Given the description of an element on the screen output the (x, y) to click on. 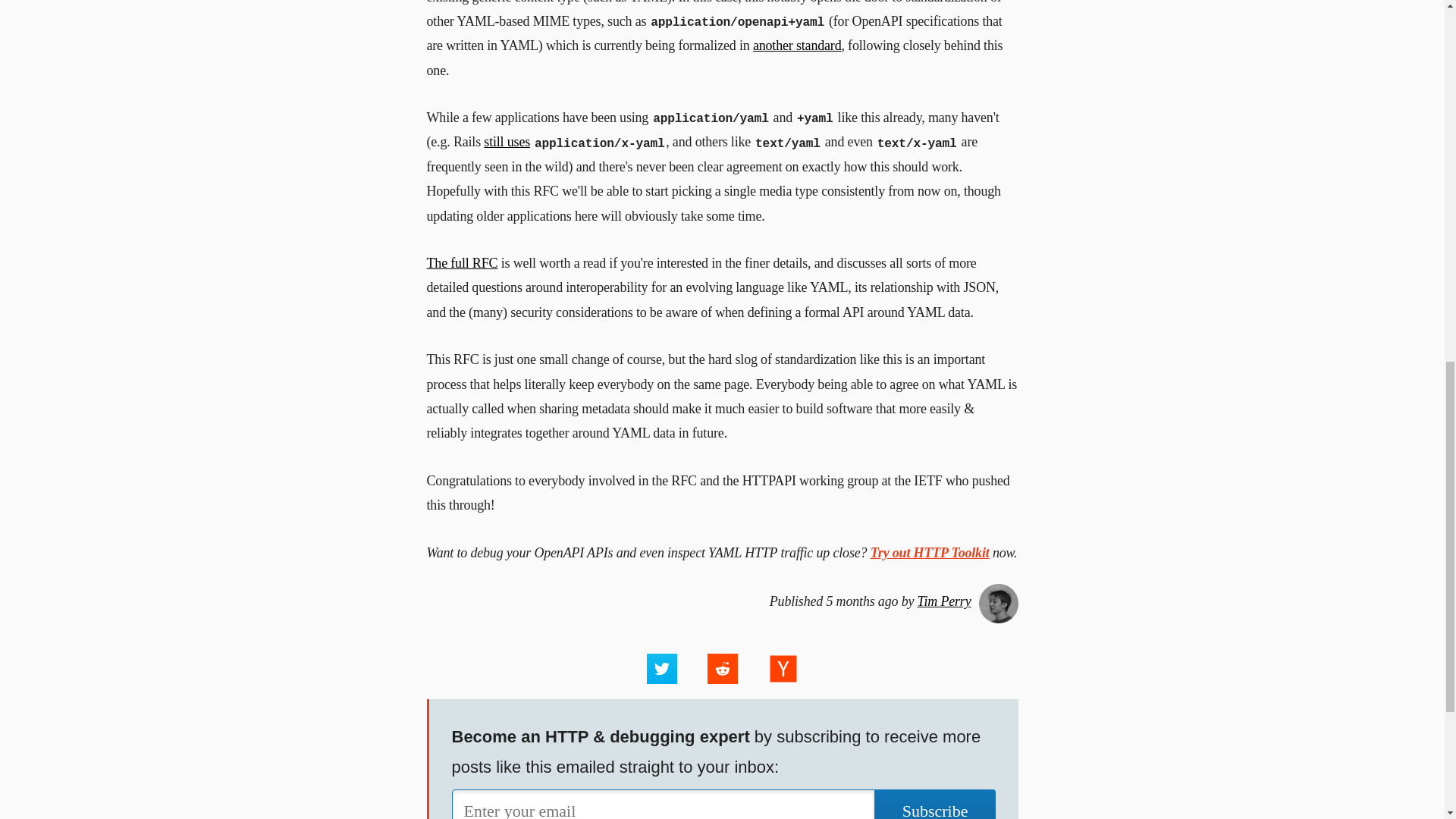
Subscribe (935, 804)
Feb 20th 2024 (721, 601)
Try out HTTP Toolkit (930, 552)
Share this post on Reddit (721, 668)
Share this post on Hacker News (782, 668)
Share this post on Twitter (661, 668)
Tim Perry (944, 601)
Subscribe (935, 804)
The full RFC (461, 263)
another standard (796, 45)
